Given the description of an element on the screen output the (x, y) to click on. 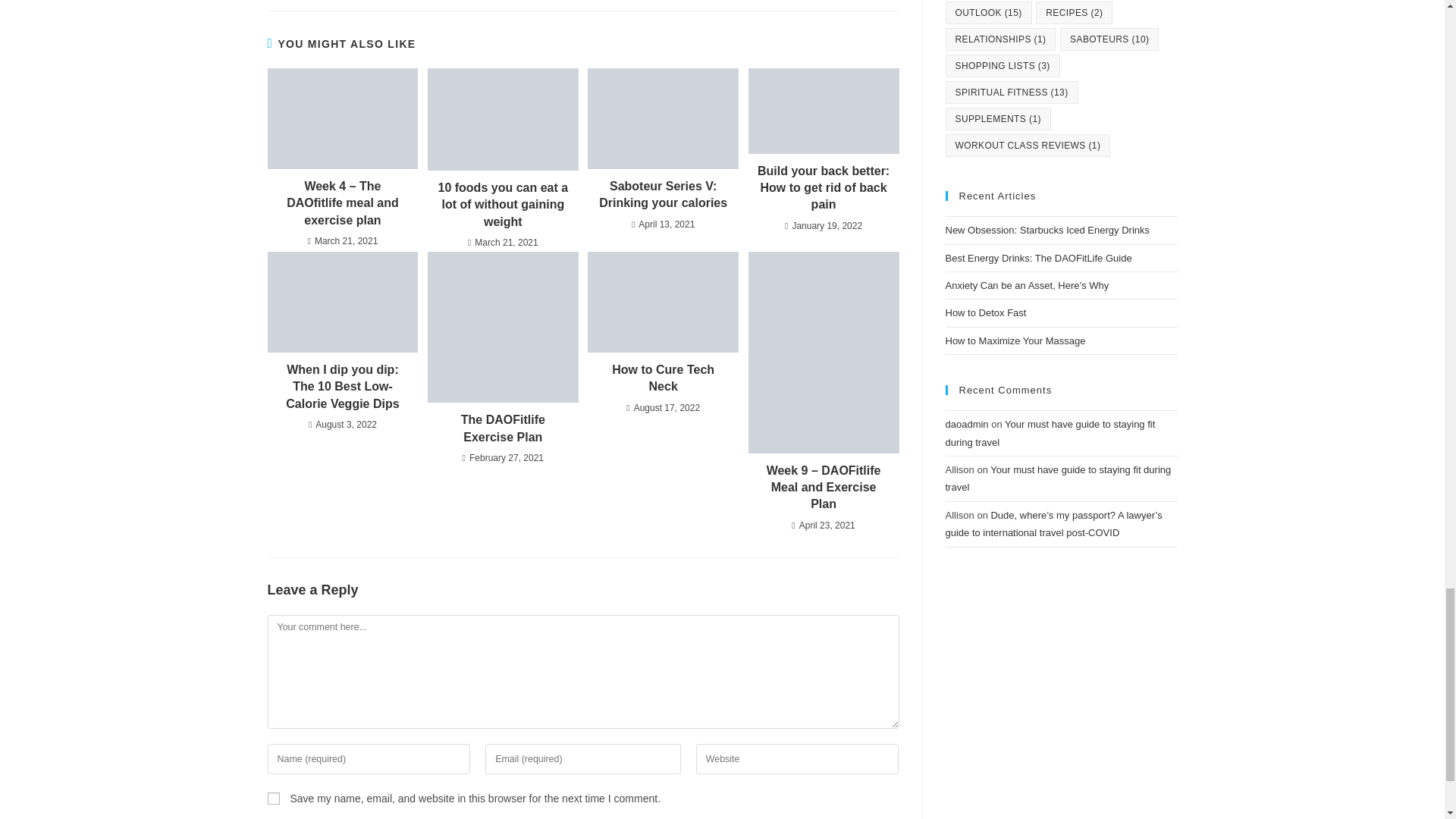
yes (272, 798)
